Given the description of an element on the screen output the (x, y) to click on. 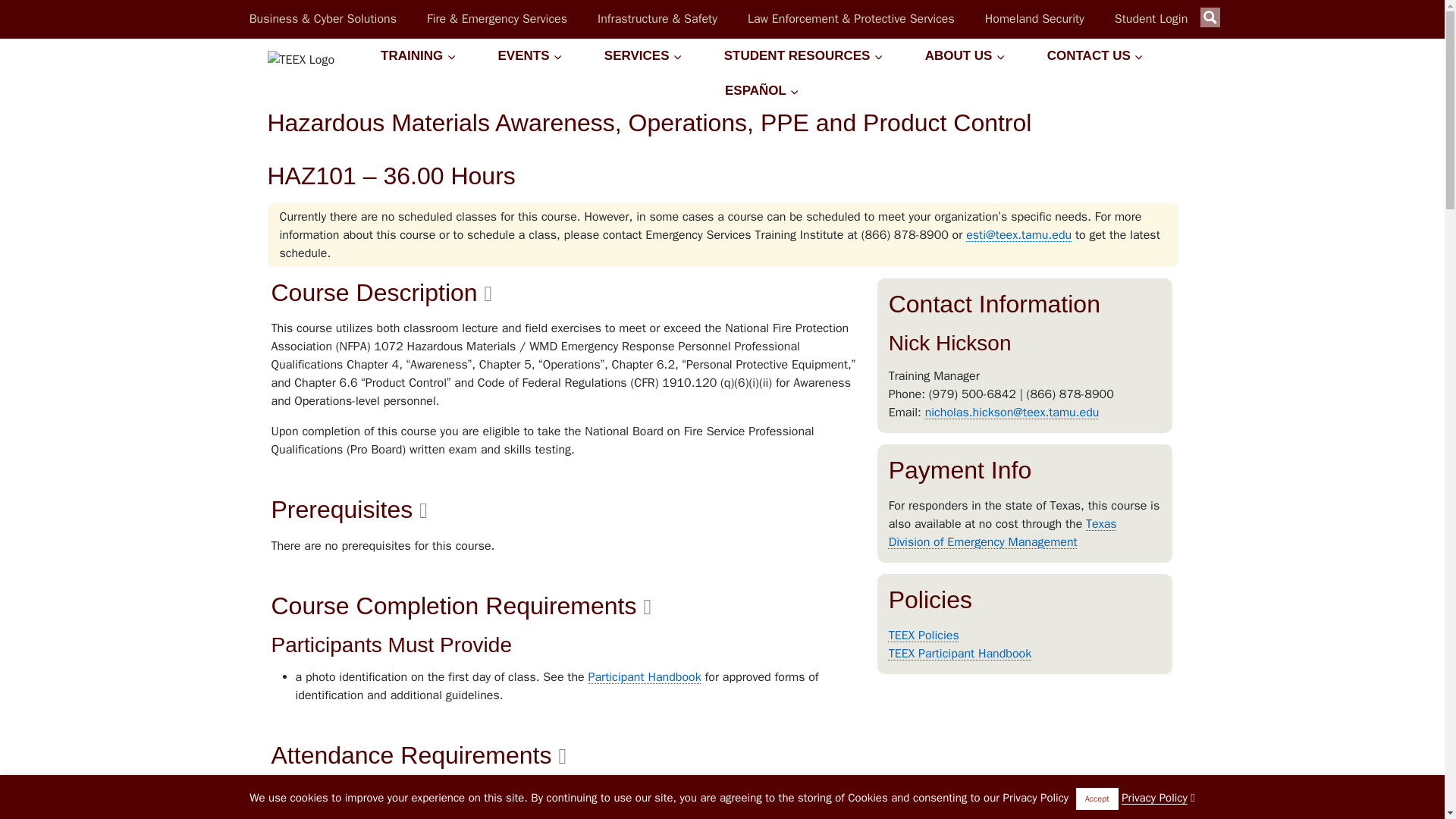
Student Login (1151, 18)
Homeland Security (1034, 18)
SERVICES (643, 55)
TRAINING (417, 55)
EVENTS (530, 55)
